Given the description of an element on the screen output the (x, y) to click on. 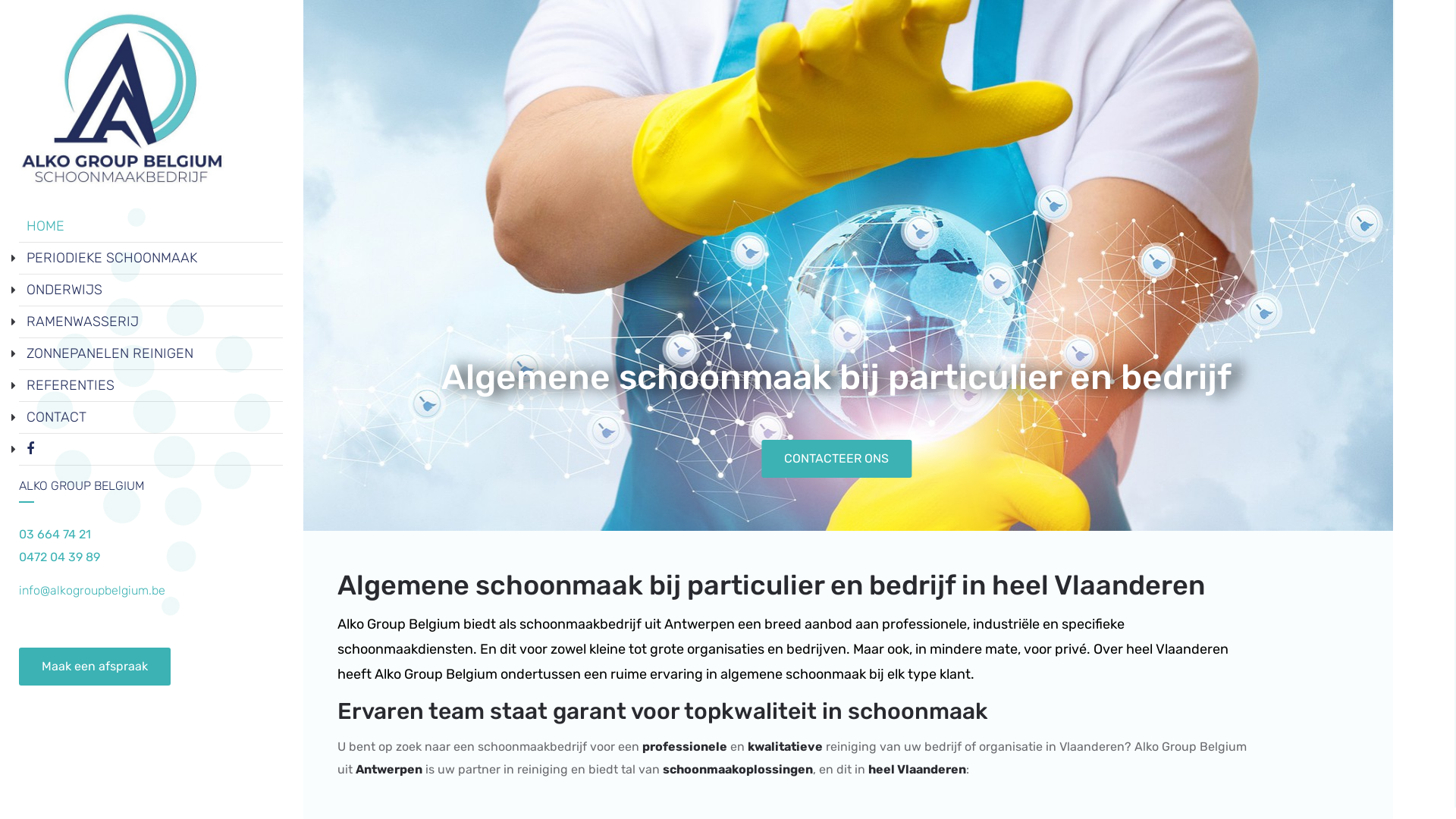
PERIODIEKE SCHOONMAAK Element type: text (111, 257)
ONDERWIJS Element type: text (64, 289)
ZONNEPANELEN REINIGEN Element type: text (109, 353)
03 664 74 21 Element type: text (54, 534)
0472 04 39 89 Element type: text (59, 556)
CONTACT Element type: text (56, 416)
info@alkogroupbelgium.be Element type: text (91, 590)
RAMENWASSERIJ Element type: text (82, 321)
CONTACTEER ONS Element type: text (836, 458)
Maak een afspraak Element type: text (94, 666)
HOME Element type: text (45, 225)
REFERENTIES Element type: text (70, 384)
